Given the description of an element on the screen output the (x, y) to click on. 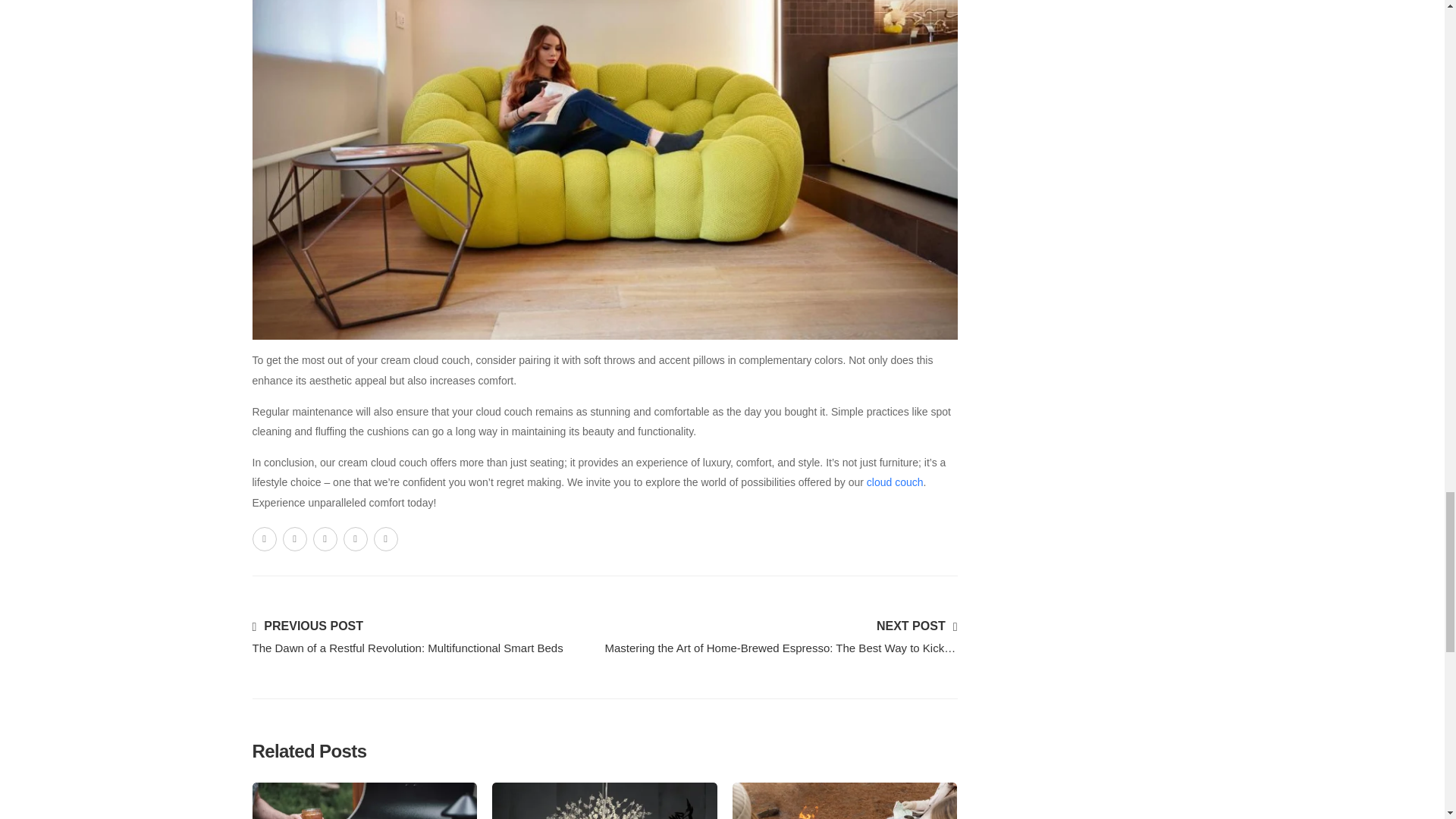
Facebook (263, 539)
Twitter (293, 539)
WhatsApp (354, 539)
Linkedin (384, 539)
Pinterest (324, 539)
